Given the description of an element on the screen output the (x, y) to click on. 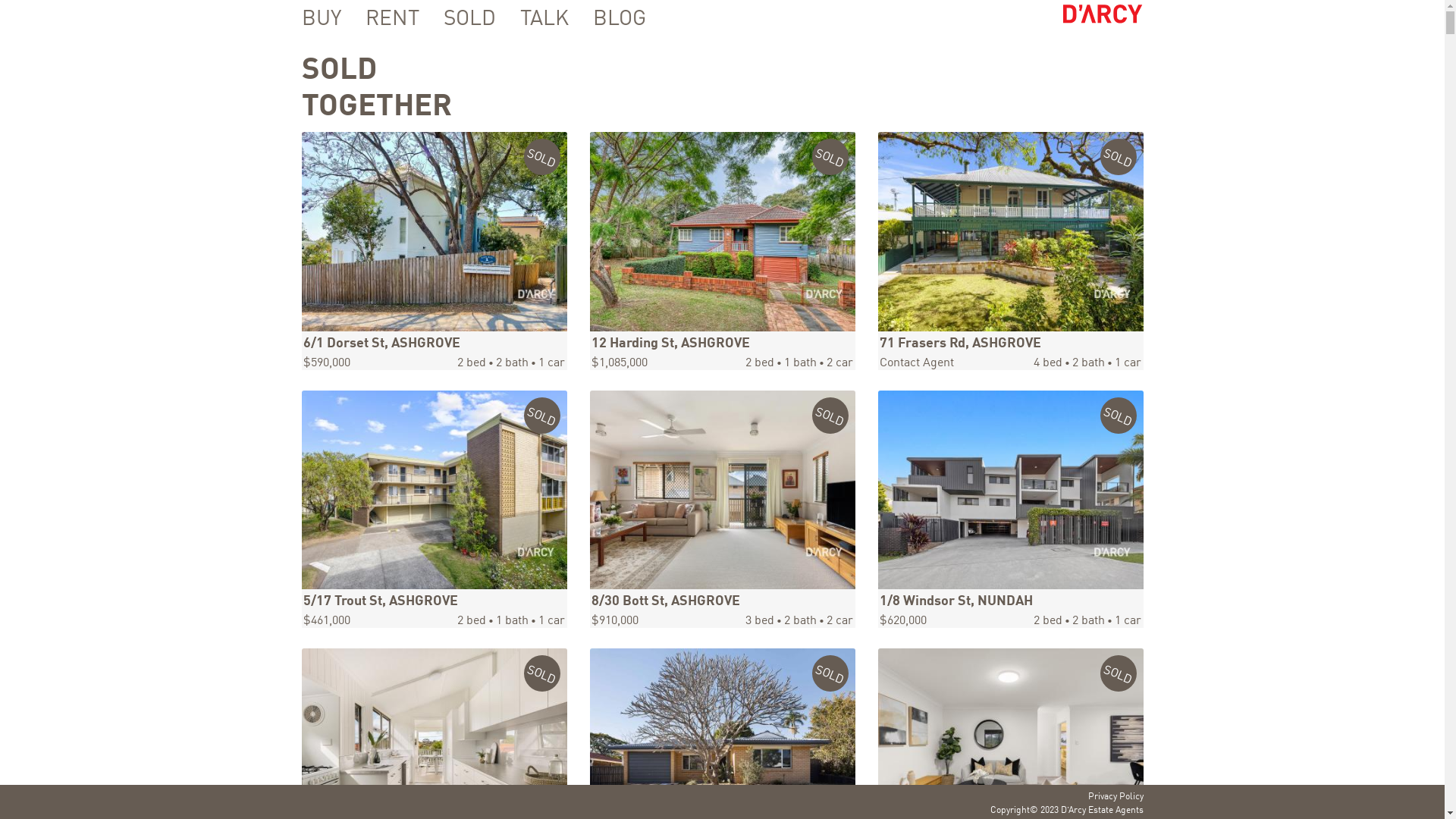
BLOG Element type: text (608, 15)
TALK Element type: text (533, 15)
BUY Element type: text (321, 15)
SOLD Element type: text (458, 15)
RENT Element type: text (381, 15)
Privacy Policy Element type: text (1114, 794)
